Given the description of an element on the screen output the (x, y) to click on. 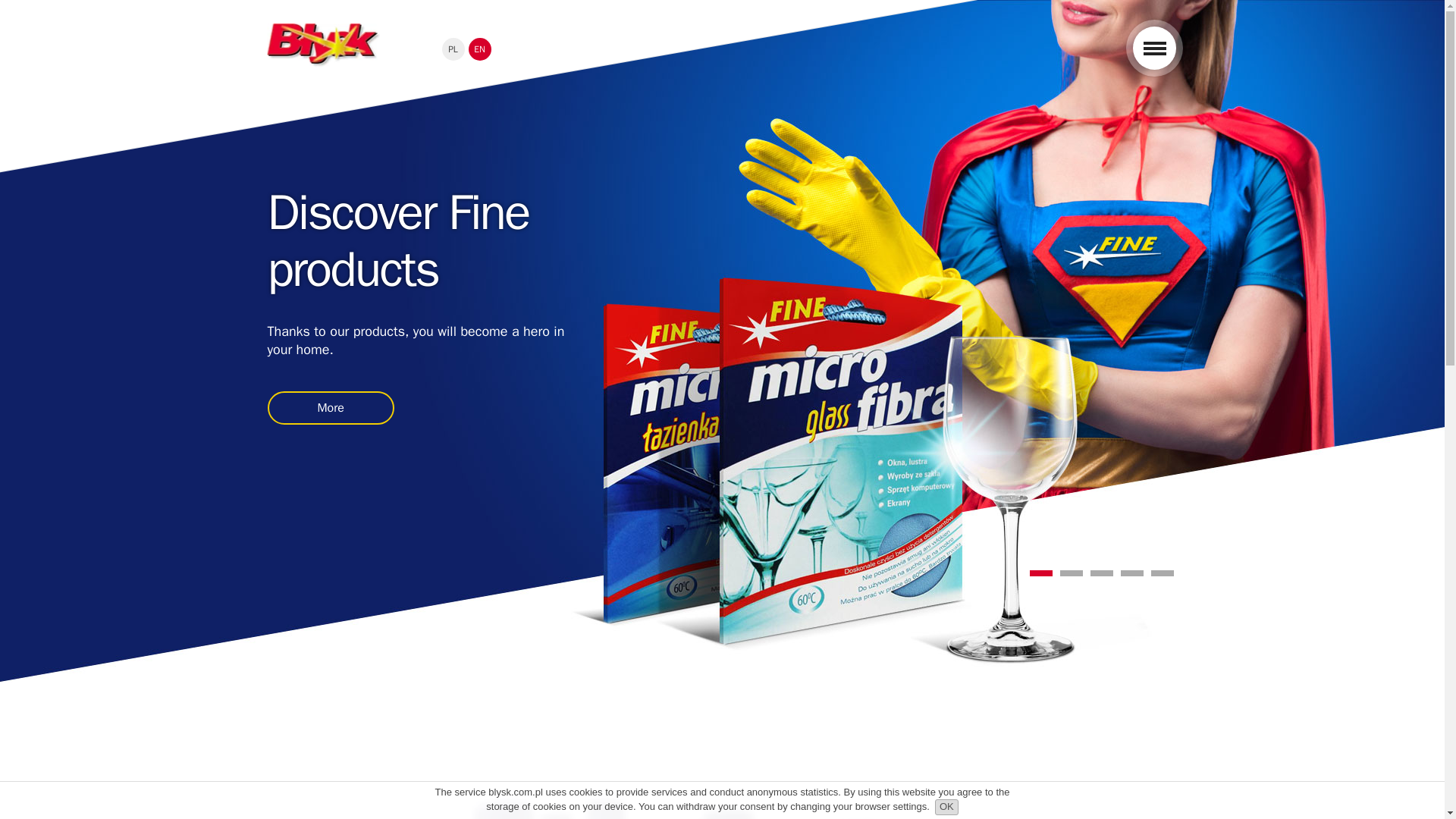
Polish (452, 48)
See the brochure (721, 750)
English (480, 48)
PL (452, 48)
EN (480, 48)
